Given the description of an element on the screen output the (x, y) to click on. 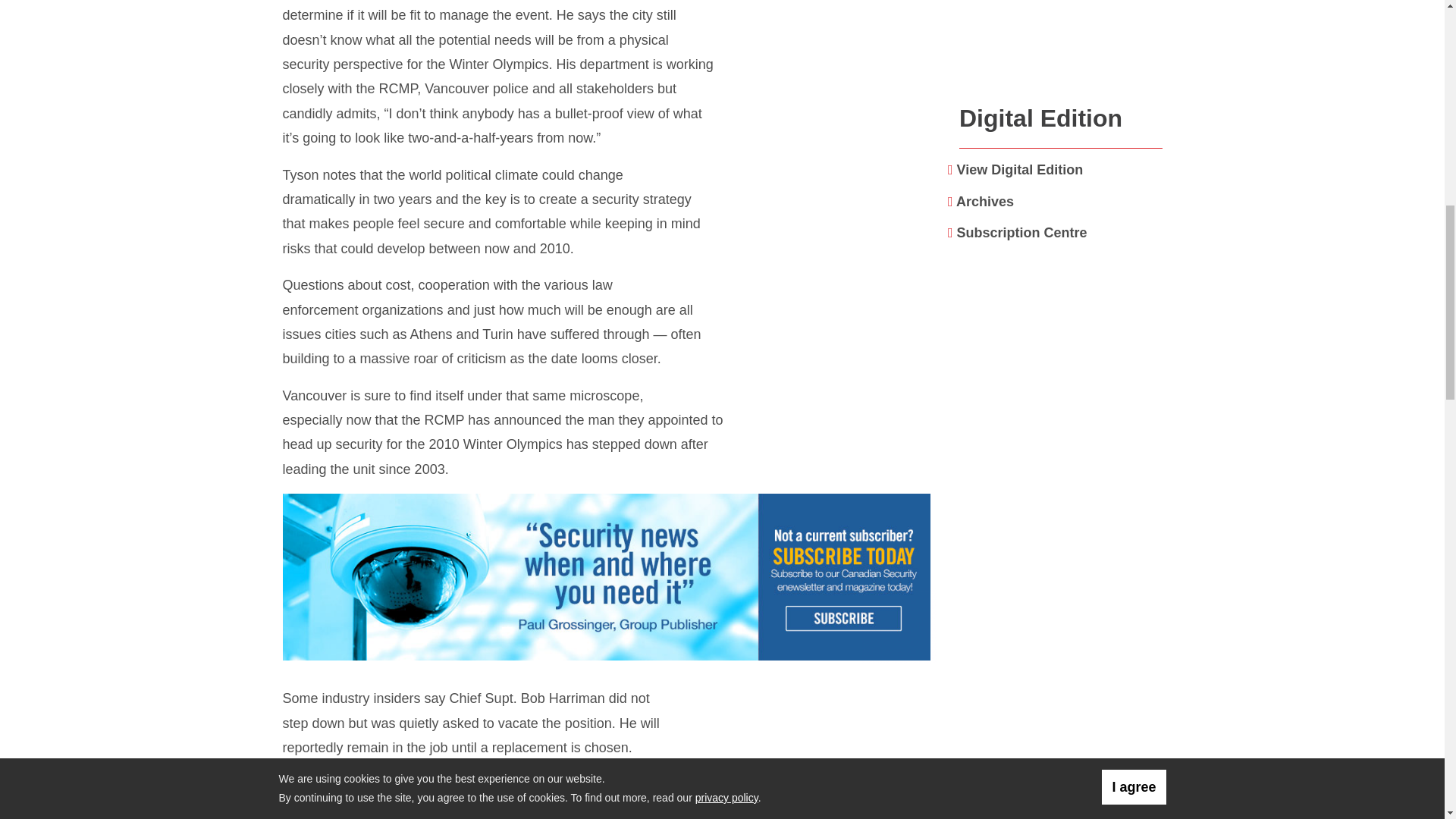
3rd party ad content (609, 578)
3rd party ad content (1060, 381)
3rd party ad content (1061, 44)
3rd party ad content (1060, 750)
3rd party ad content (1060, 579)
